Given the description of an element on the screen output the (x, y) to click on. 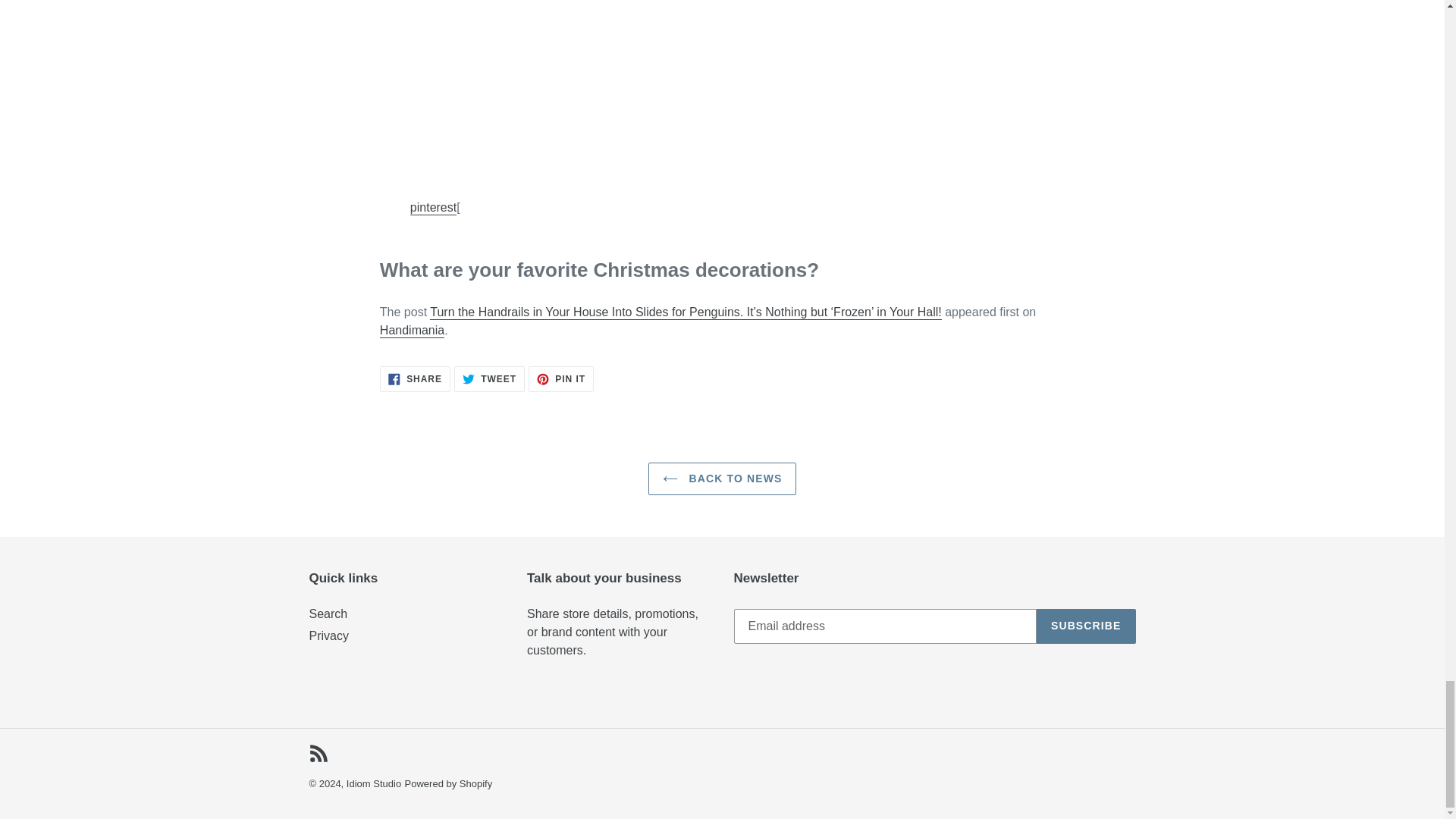
Idiom Studio (373, 783)
RSS (489, 379)
pinterest (318, 752)
SUBSCRIBE (433, 207)
Handimania (1085, 626)
BACK TO NEWS (412, 330)
Privacy (721, 478)
Powered by Shopify (328, 635)
Search (448, 783)
